Given the description of an element on the screen output the (x, y) to click on. 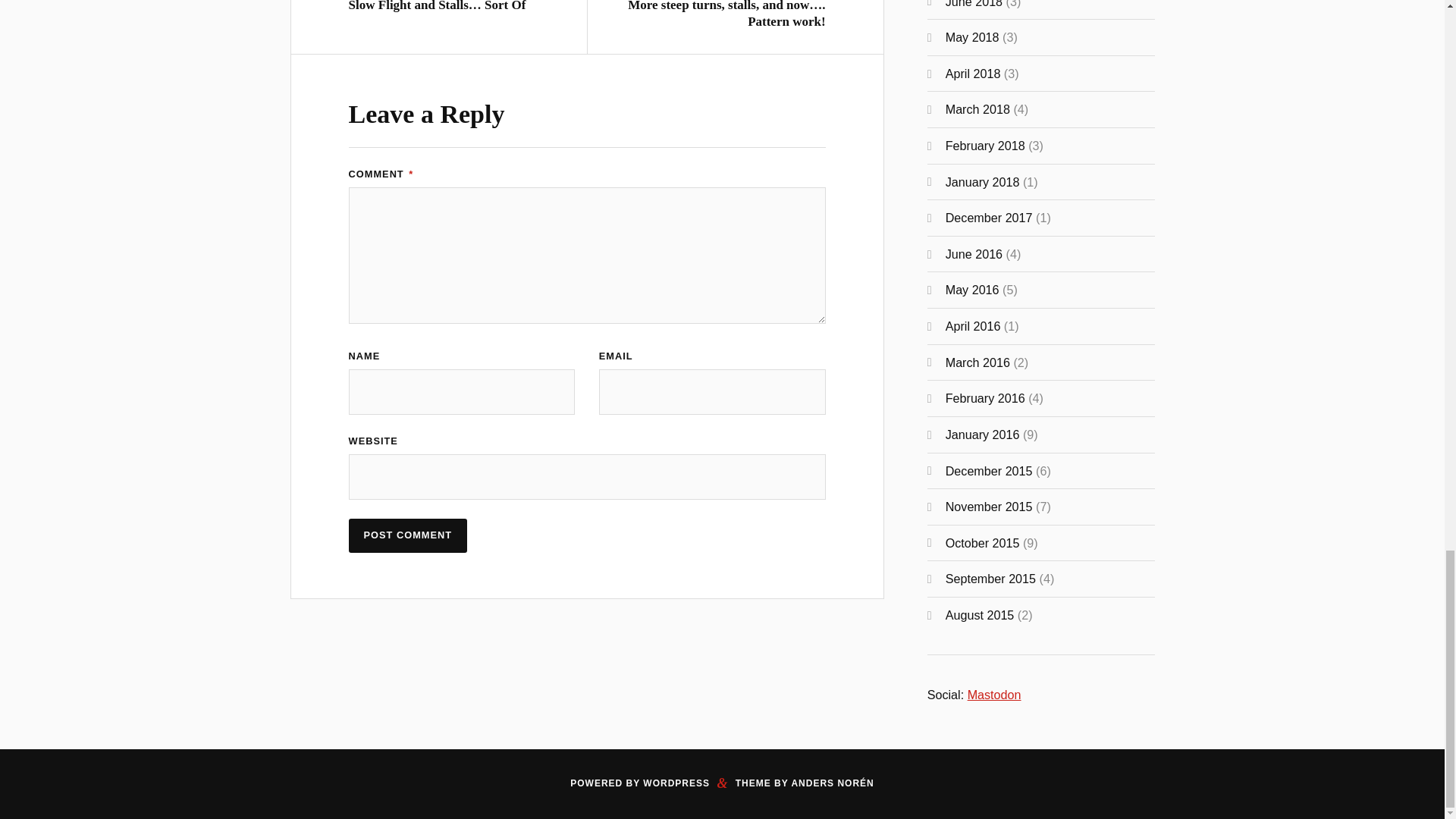
Post Comment (408, 535)
Post Comment (408, 535)
